Given the description of an element on the screen output the (x, y) to click on. 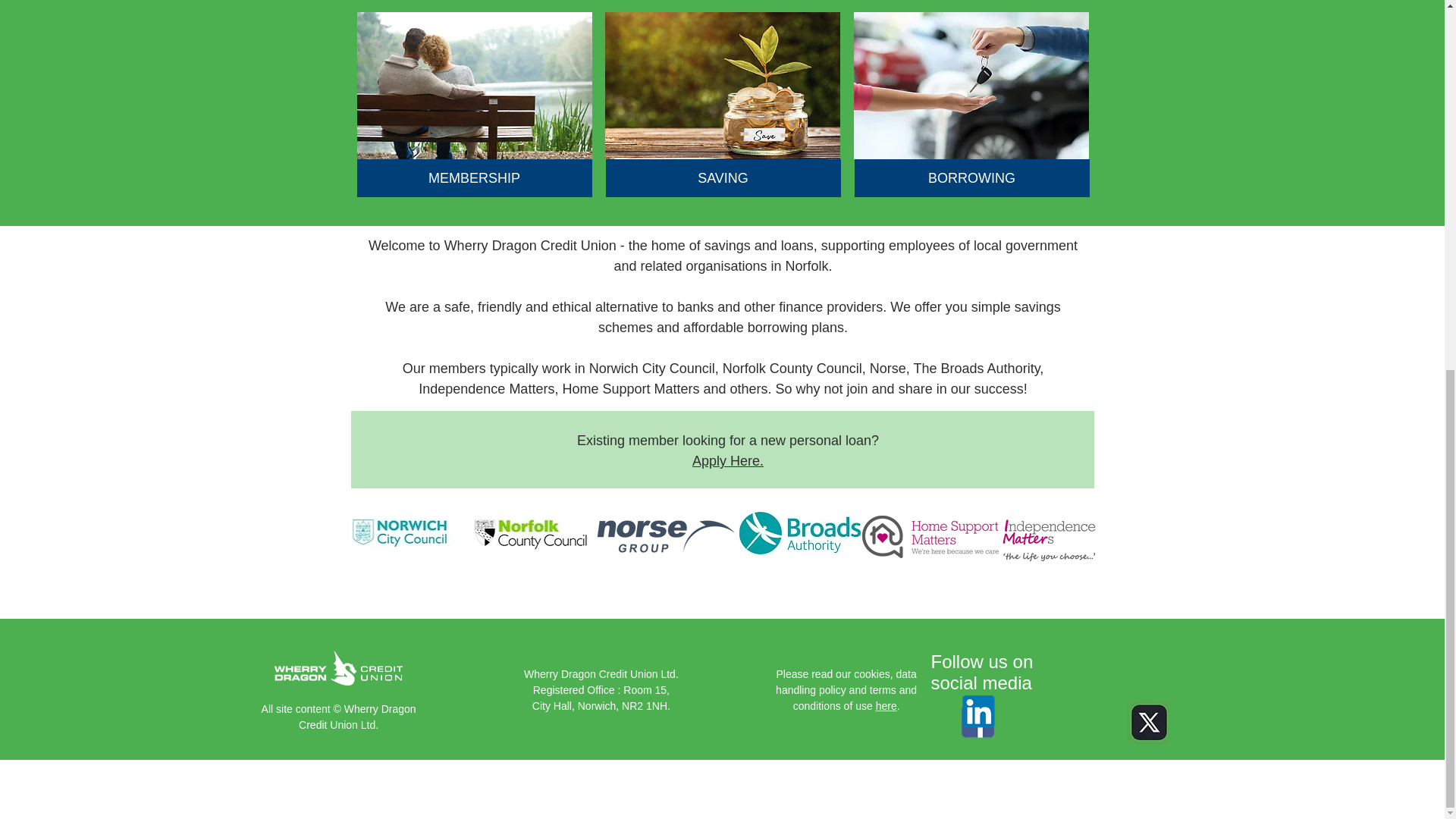
BORROWING (971, 177)
SAVING (722, 177)
Apply Here. (727, 460)
here (886, 705)
MEMBERSHIP (473, 177)
twitter.png (1147, 722)
